Given the description of an element on the screen output the (x, y) to click on. 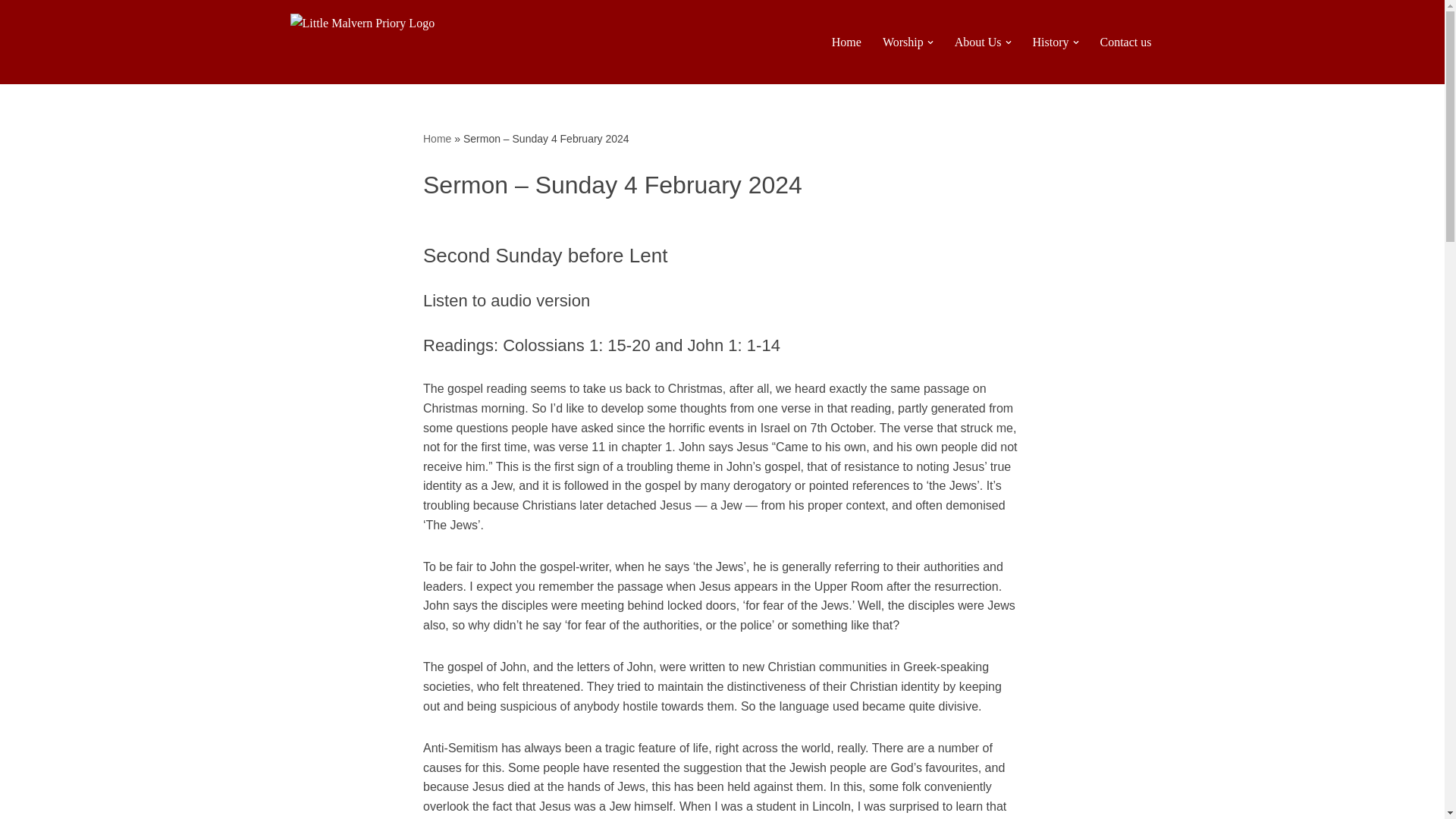
Skip to content (11, 31)
Home (846, 41)
About Us (978, 41)
History (1050, 41)
Worship (902, 41)
Contact us (1125, 41)
